Given the description of an element on the screen output the (x, y) to click on. 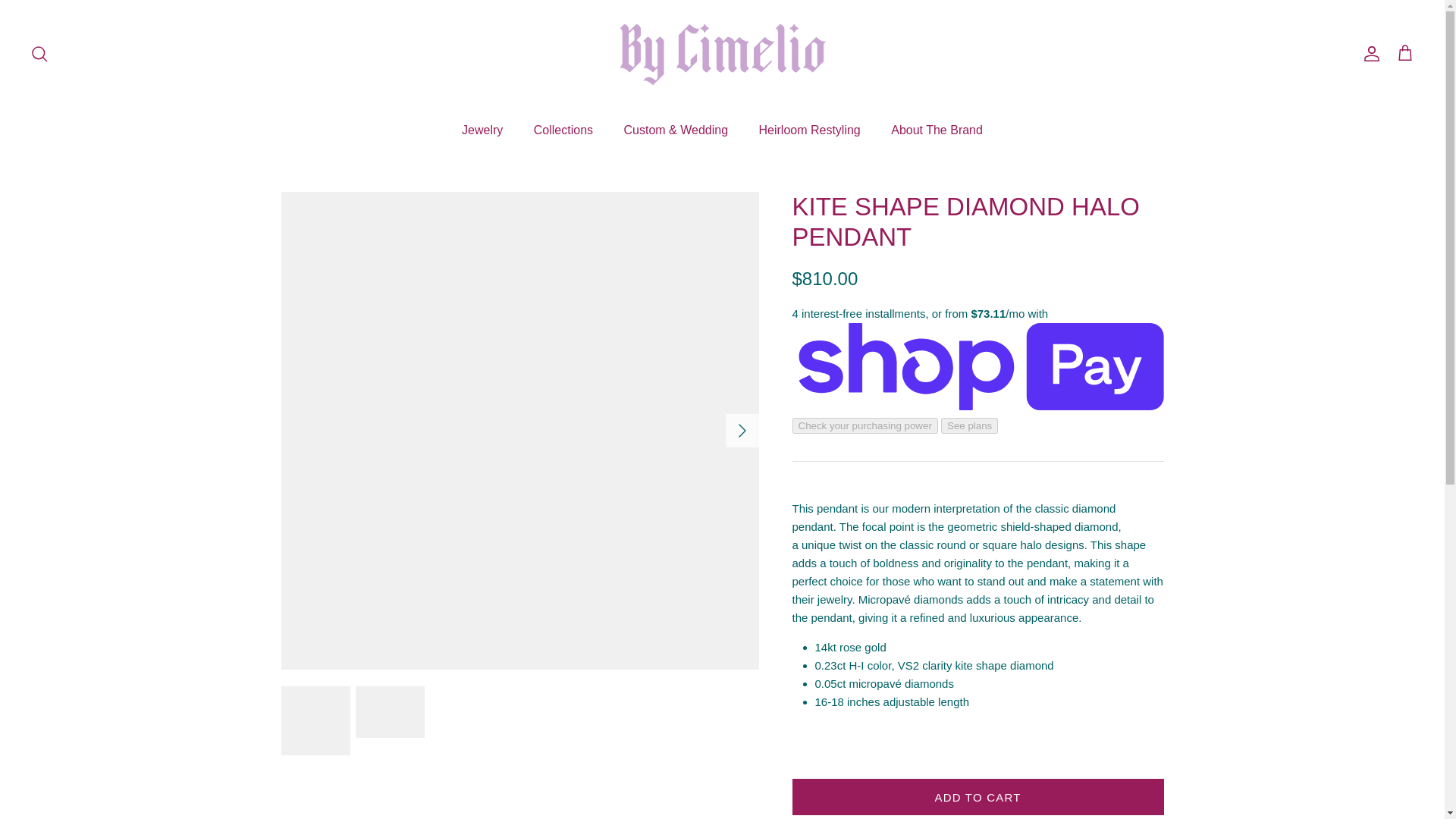
Account (1368, 53)
Collections (563, 130)
Jewelry (482, 130)
Cart (1404, 53)
By Cimelio (721, 53)
Search (39, 53)
RIGHT (741, 430)
